Given the description of an element on the screen output the (x, y) to click on. 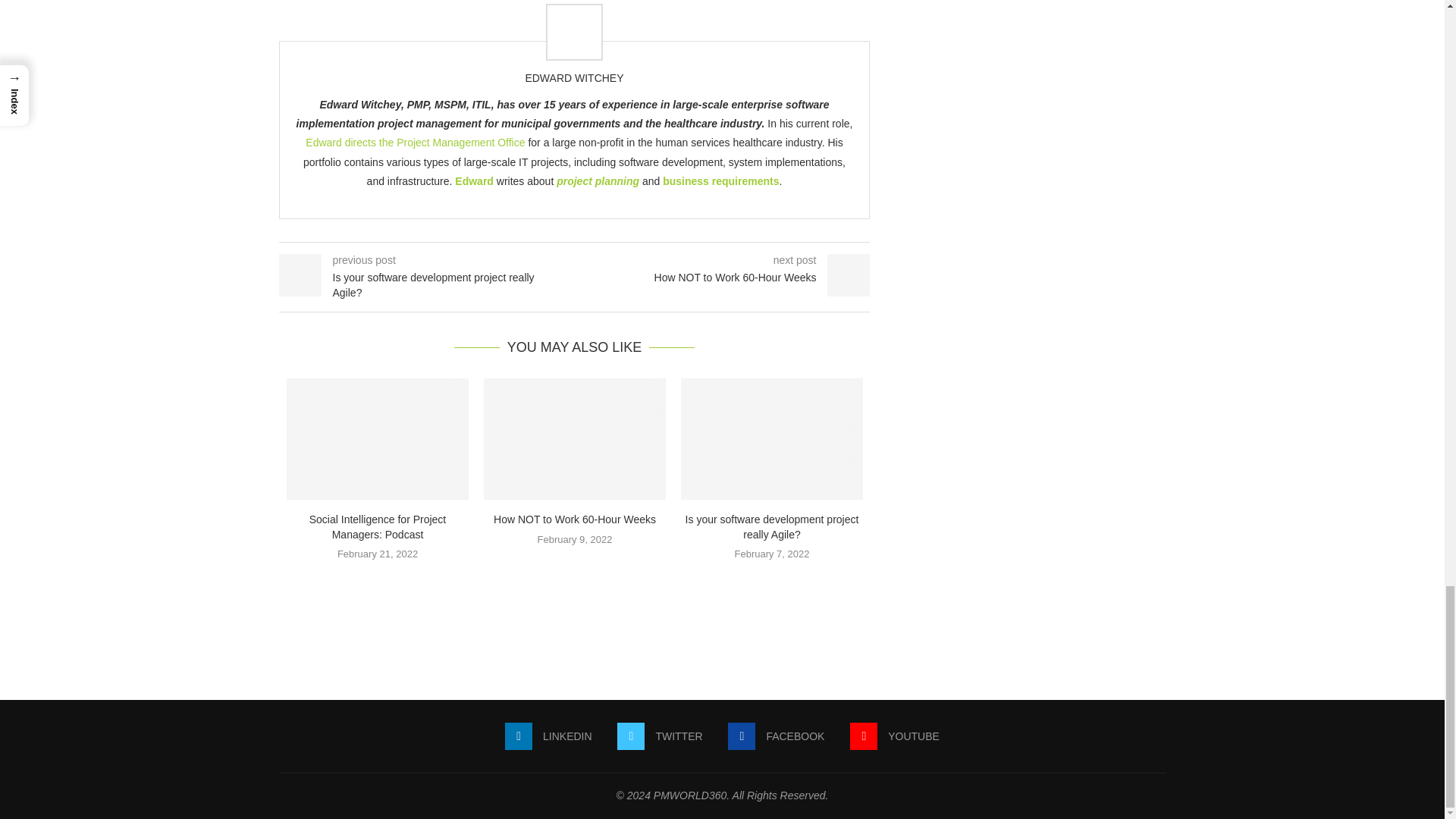
Author Edward Witchey (573, 78)
Social Intelligence for Project Managers: Podcast (377, 438)
Is your software development project really Agile? (772, 438)
How NOT to Work 60-Hour Weeks (574, 438)
